Given the description of an element on the screen output the (x, y) to click on. 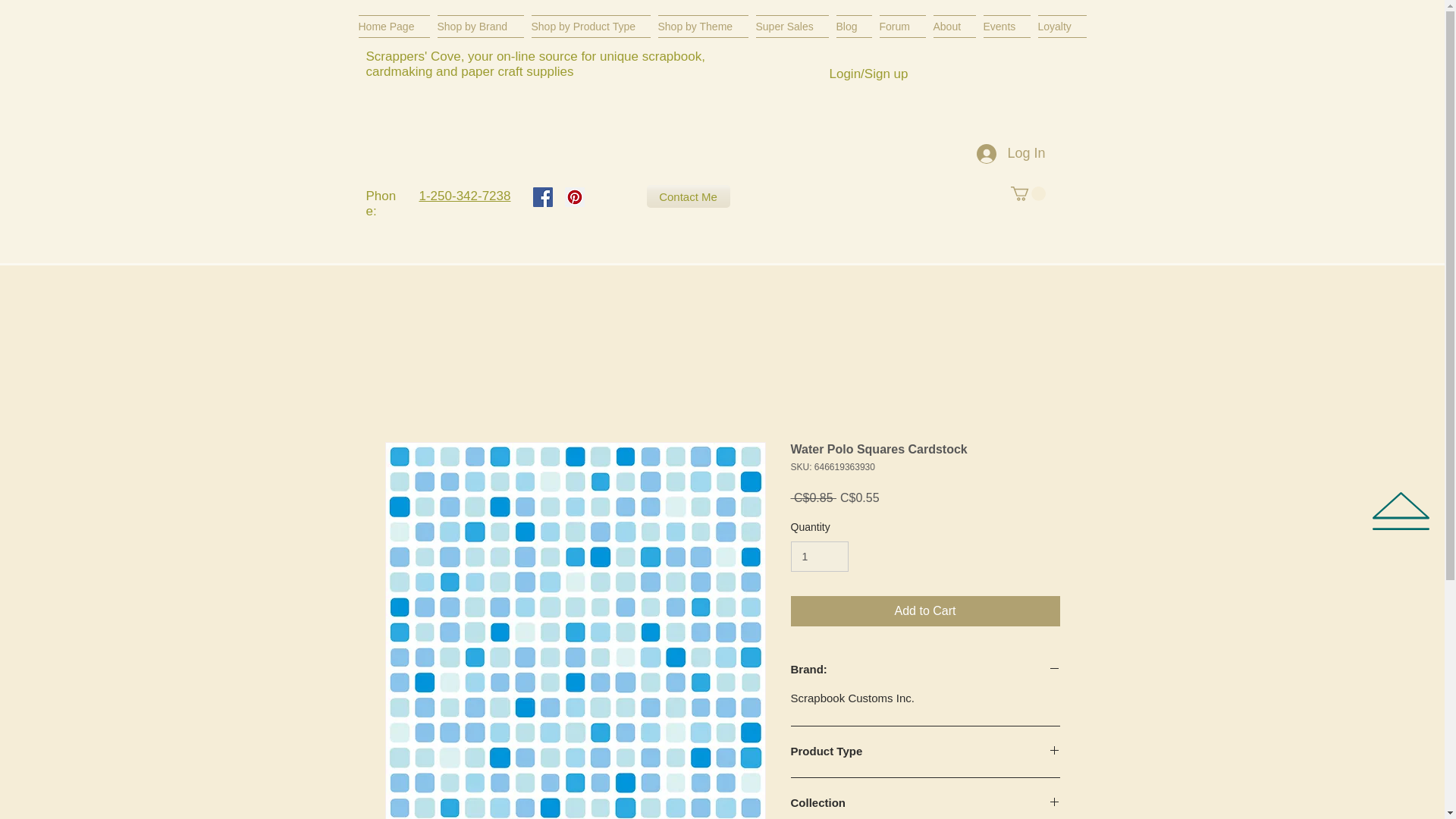
Shop by Brand (480, 26)
Home Page (395, 26)
1 (818, 556)
